Given the description of an element on the screen output the (x, y) to click on. 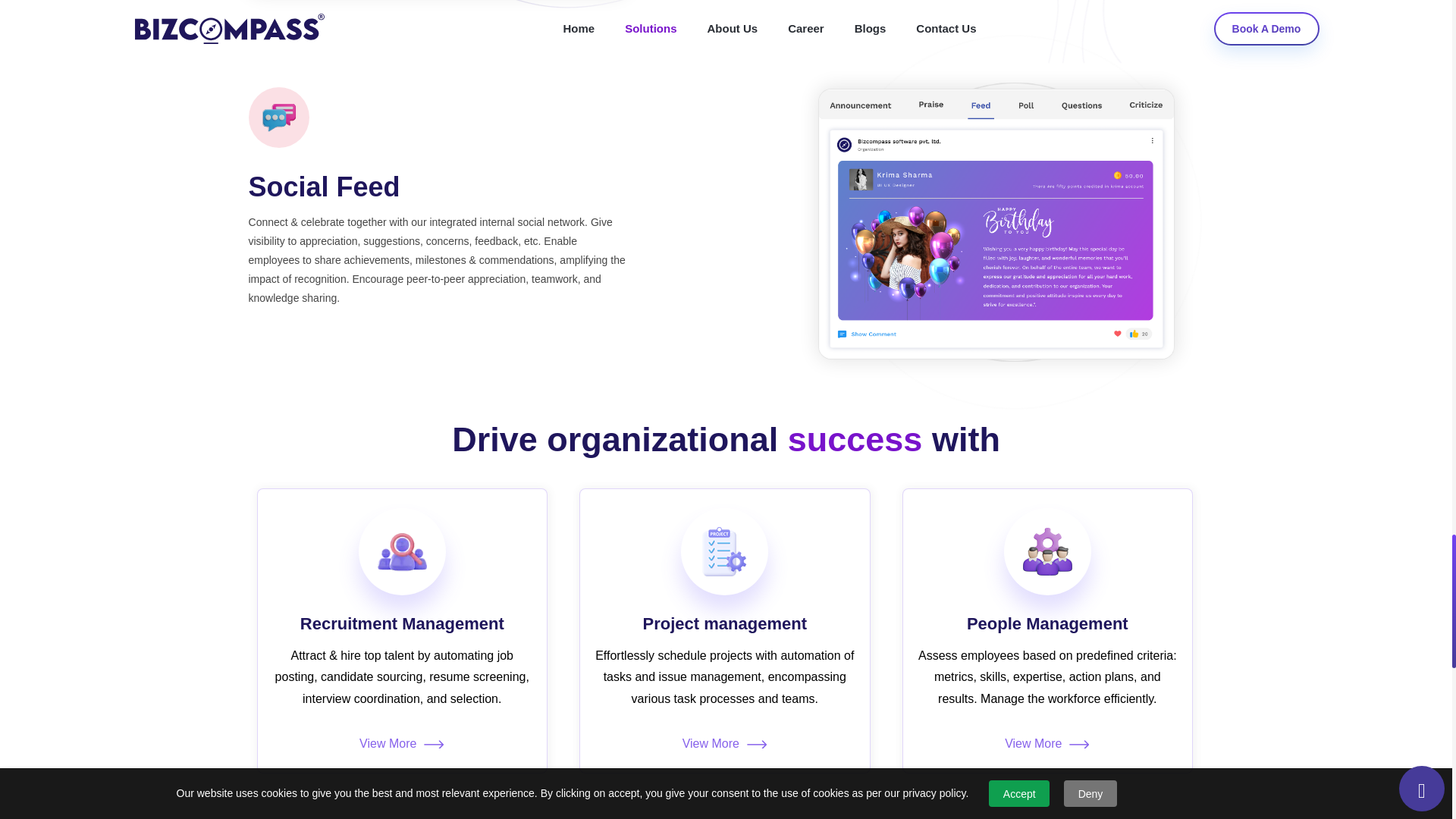
View More (1047, 743)
Recruitment Management (402, 623)
People Management (1047, 623)
View More (402, 743)
View More (724, 743)
Project management (724, 623)
